Given the description of an element on the screen output the (x, y) to click on. 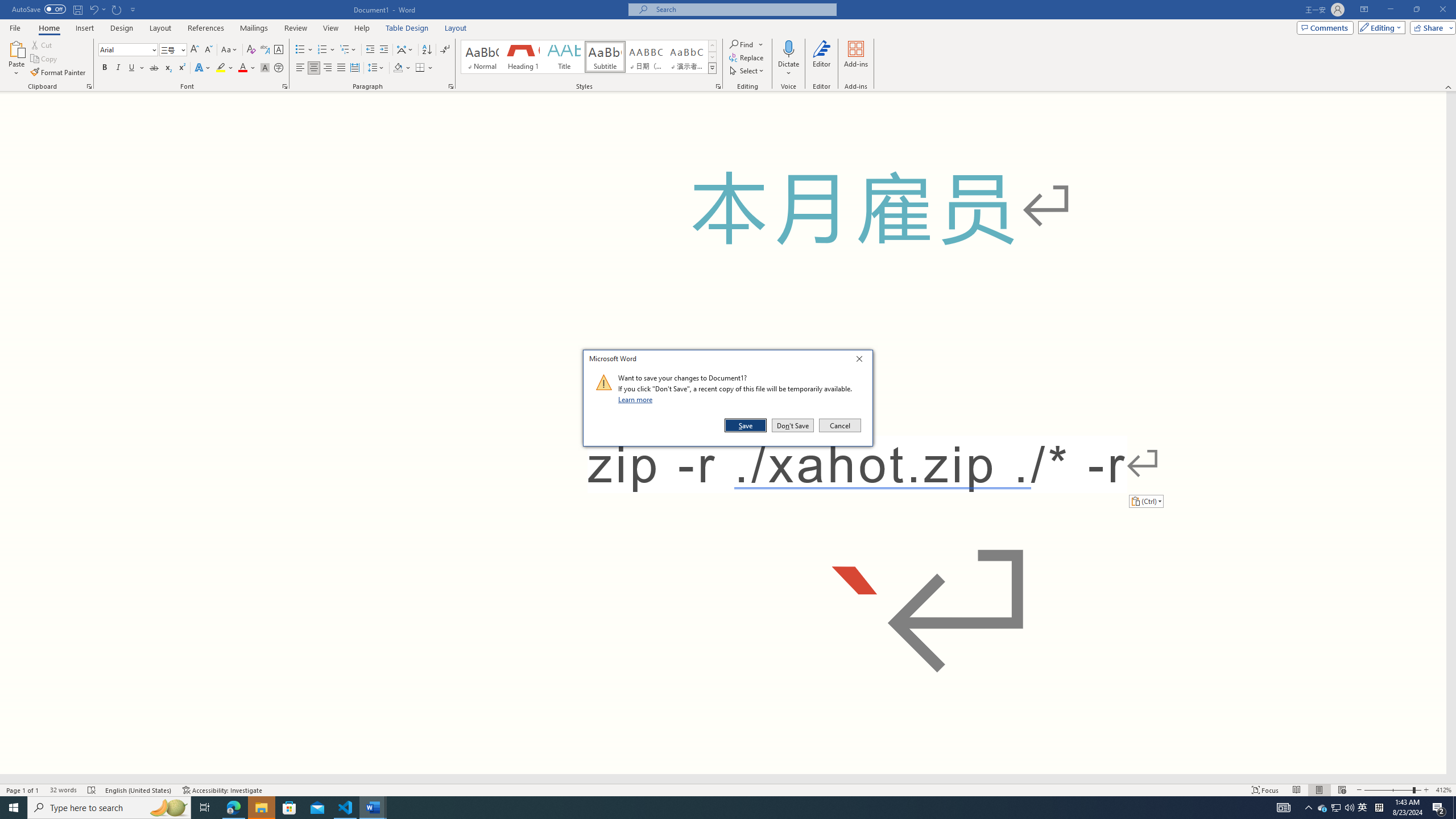
Repeat Doc Close (1322, 807)
Subtitle (117, 9)
